Given the description of an element on the screen output the (x, y) to click on. 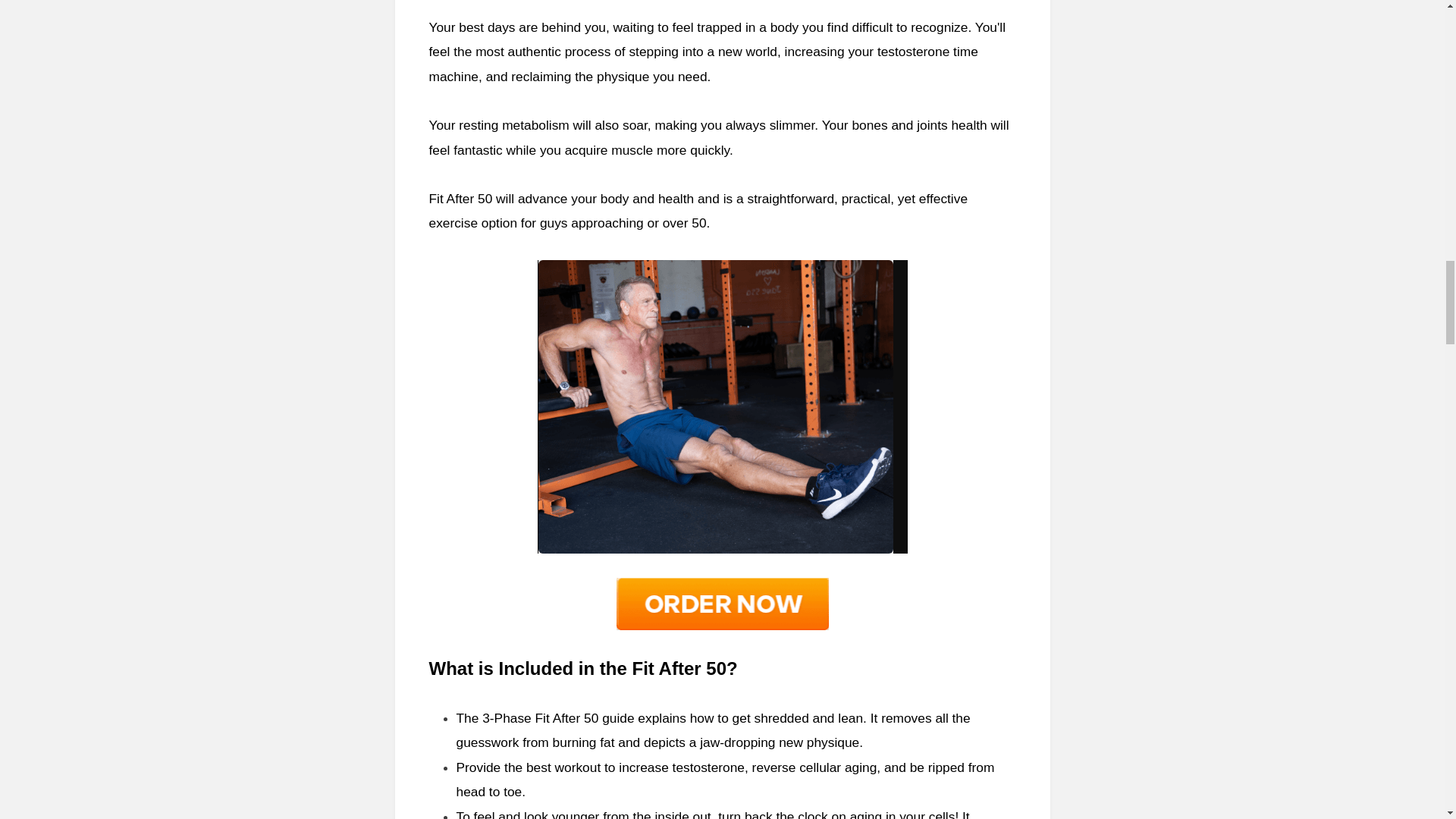
increase testosterone (681, 767)
